Given the description of an element on the screen output the (x, y) to click on. 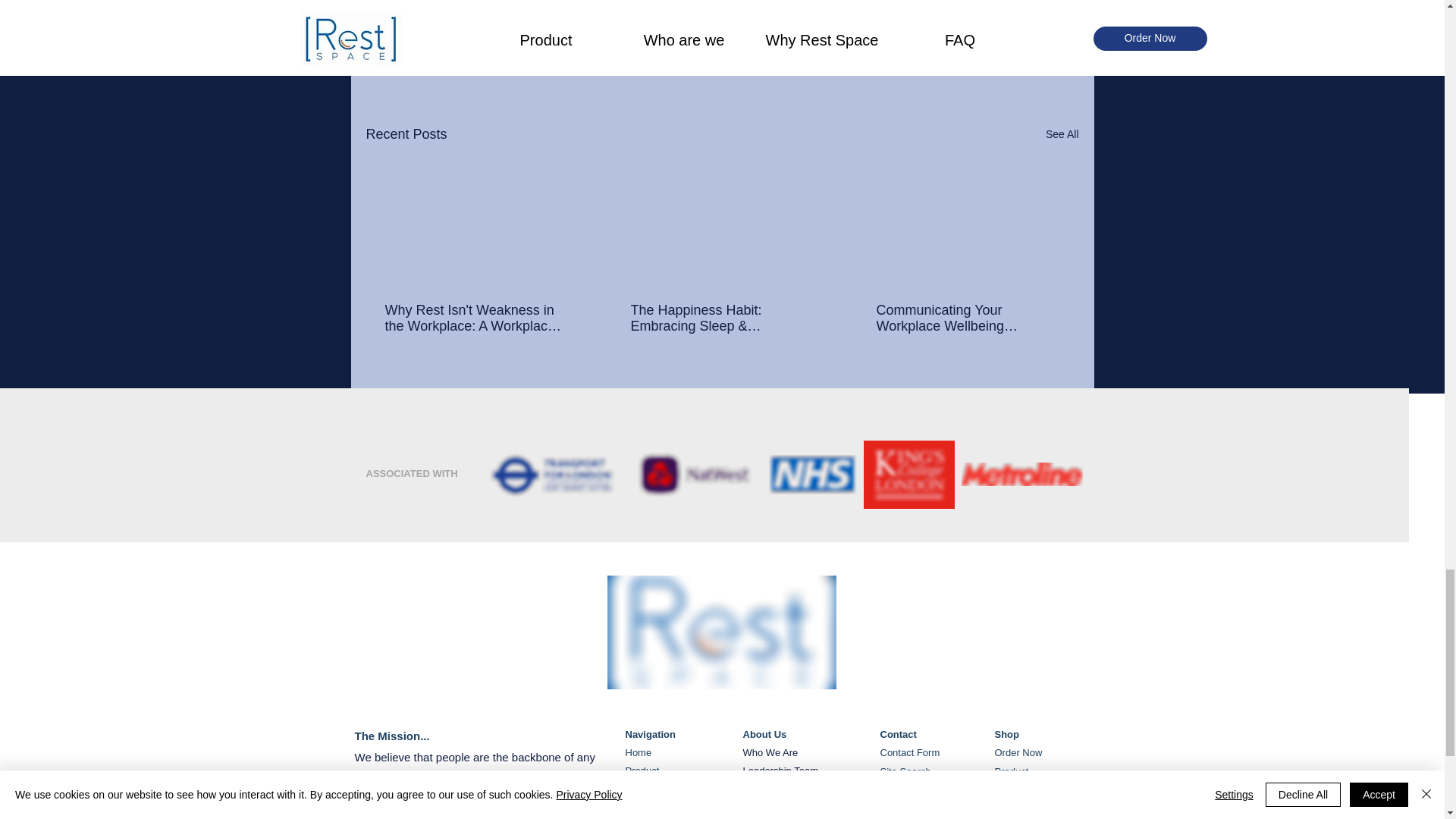
About Us (764, 734)
See All (1061, 134)
Home (637, 752)
FAQ (634, 789)
Who We Are (769, 752)
Leadership Team (780, 770)
Product (641, 770)
Blog (634, 808)
